Given the description of an element on the screen output the (x, y) to click on. 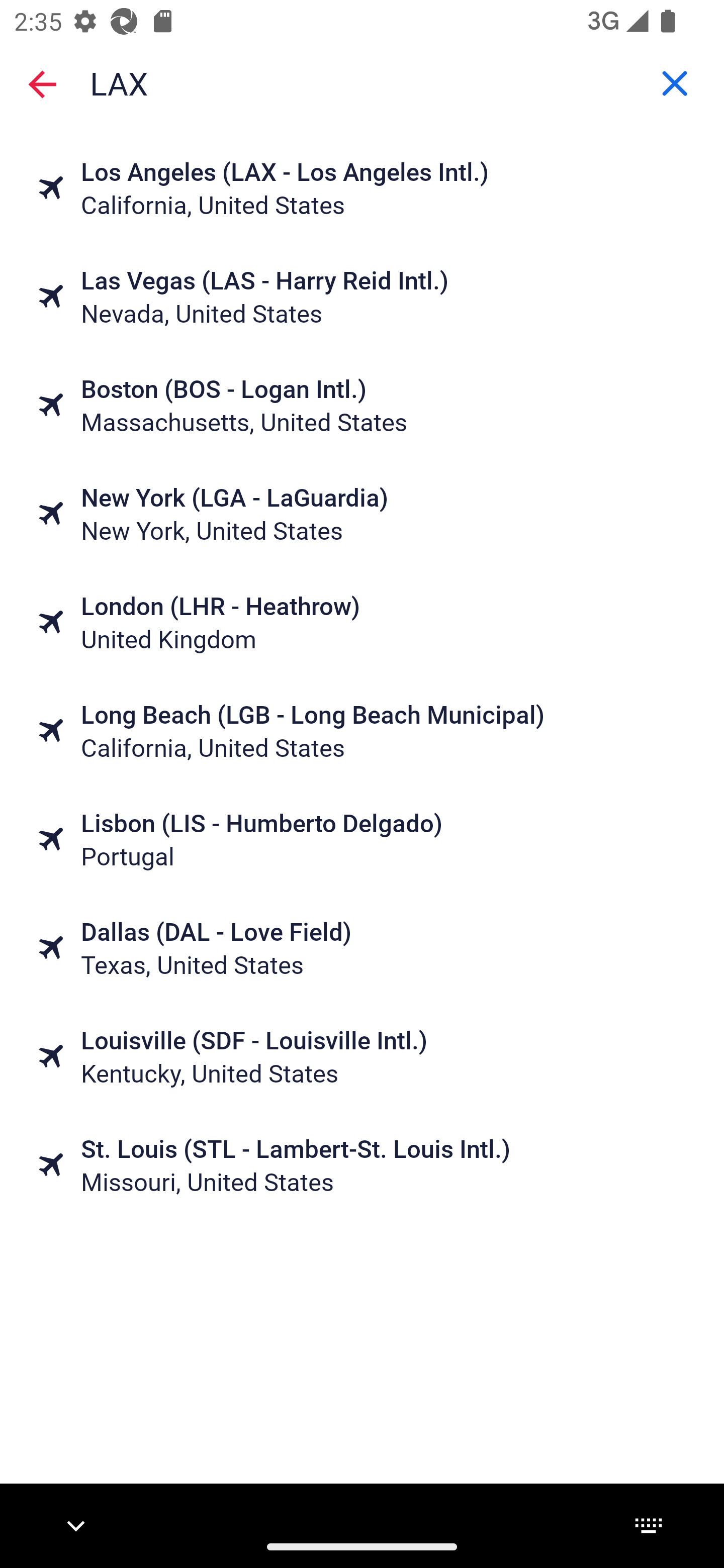
Clear Pick-up (674, 82)
Pick-up, LAX (361, 82)
Close search screen (41, 83)
